Given the description of an element on the screen output the (x, y) to click on. 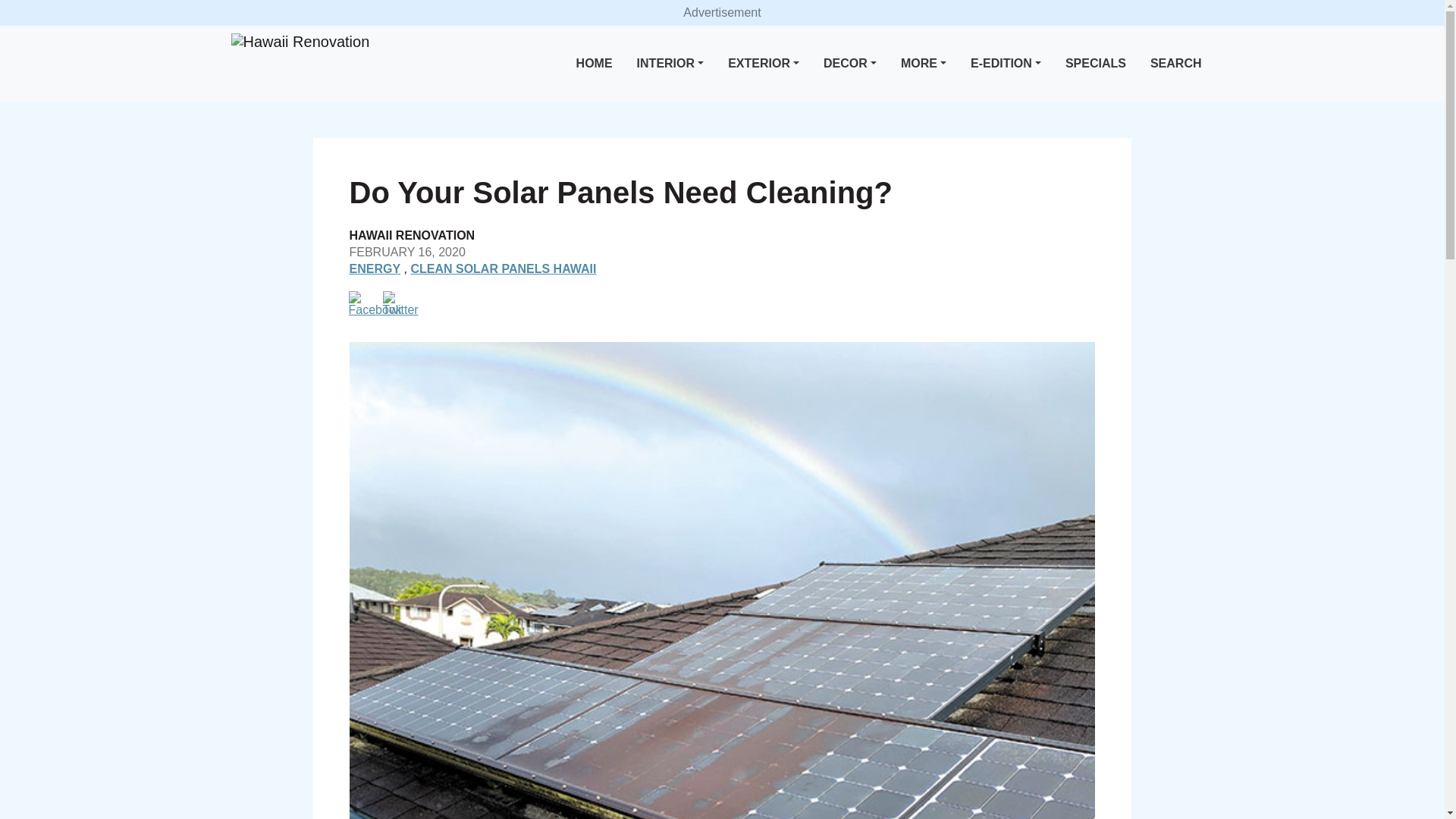
Hawaii Renovation (299, 41)
Twitter (399, 303)
HOME (594, 63)
Facebook (375, 303)
CLEAN SOLAR PANELS HAWAII (502, 268)
ENERGY (374, 268)
INTERIOR (670, 63)
E-EDITION (1004, 63)
EXTERIOR (763, 63)
SPECIALS (1095, 63)
